Given the description of an element on the screen output the (x, y) to click on. 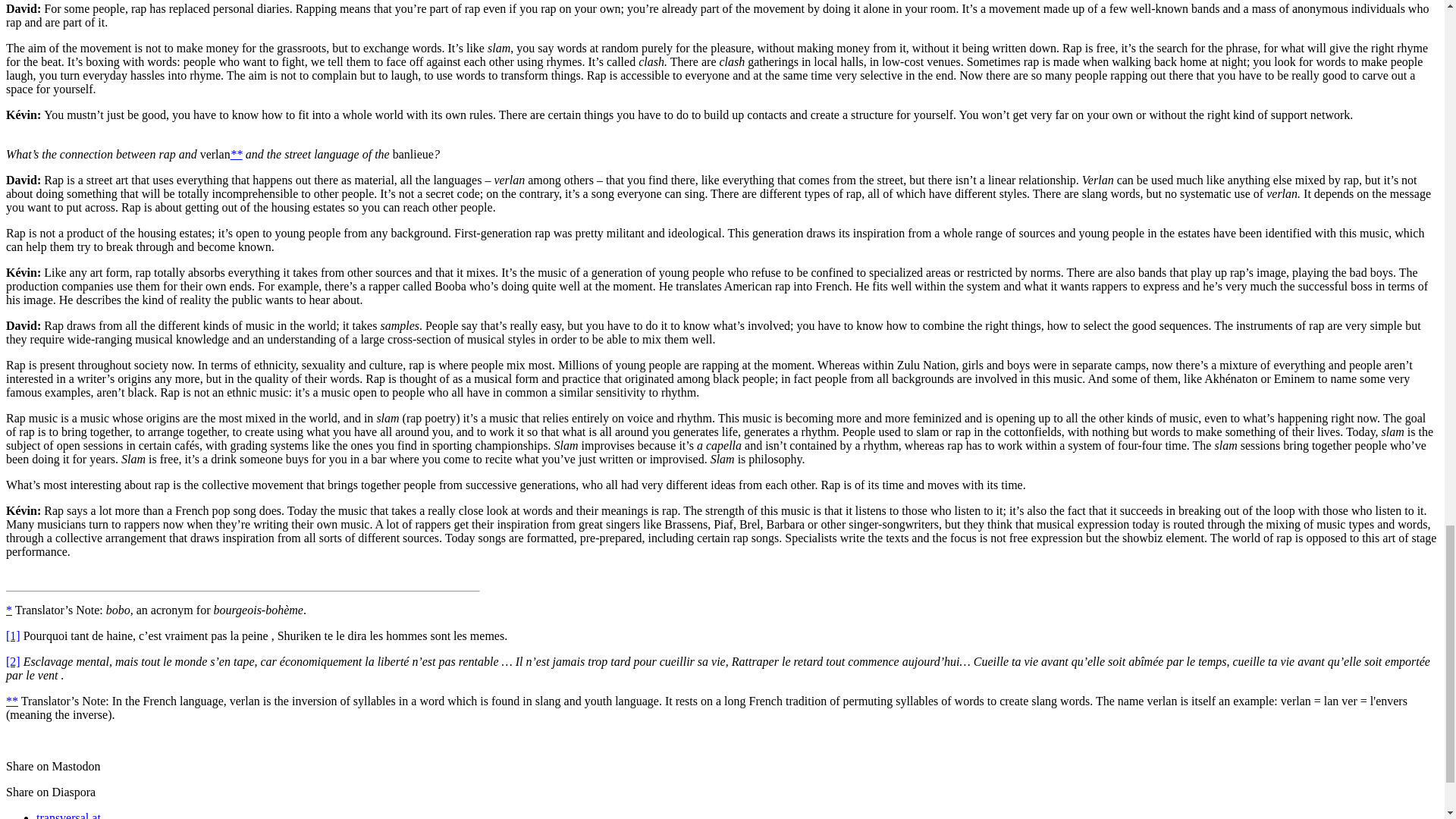
Share on Mastodon (52, 766)
Share on Diaspora (50, 791)
transversal.at (68, 815)
